Given the description of an element on the screen output the (x, y) to click on. 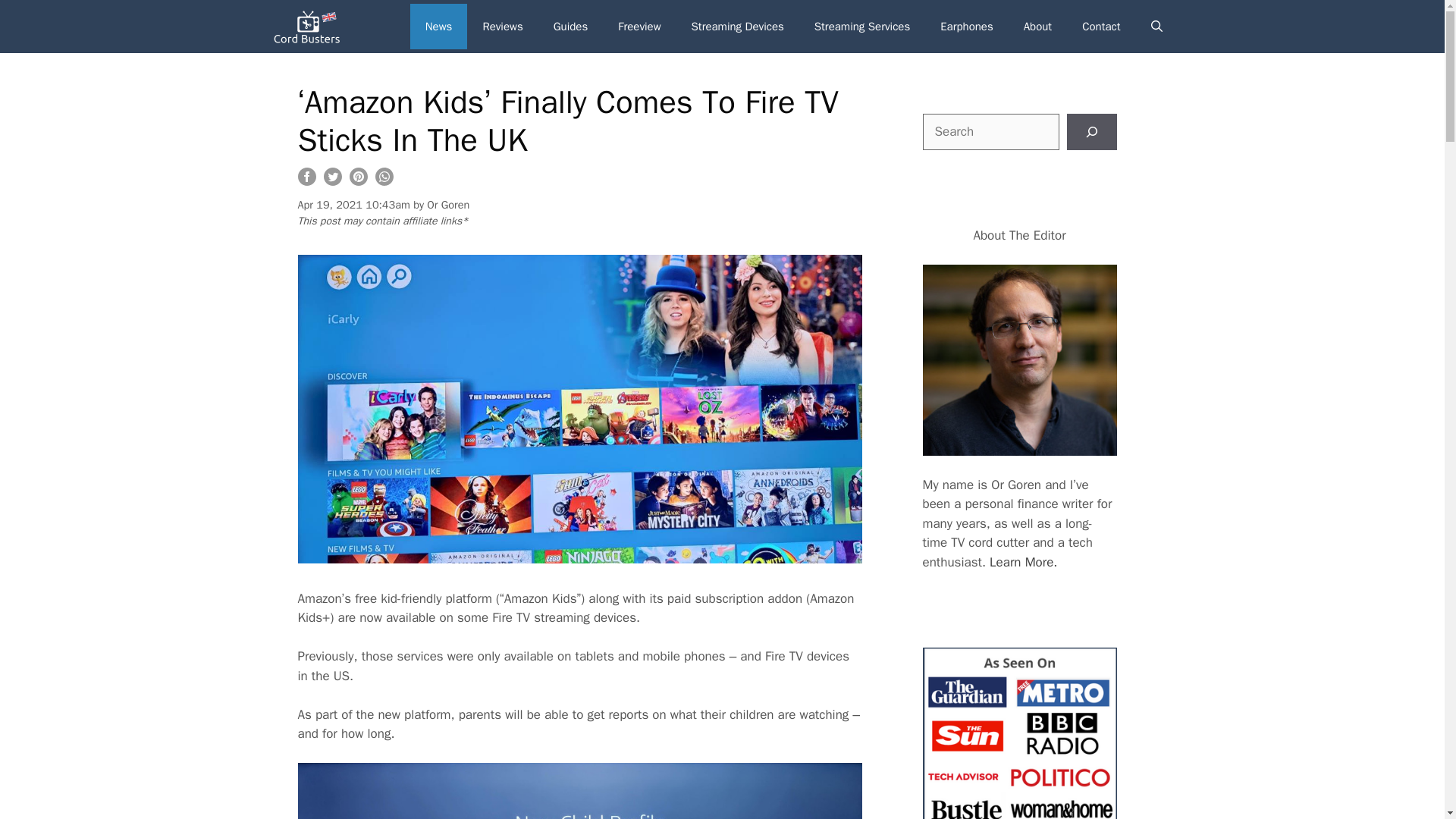
Learn More. (1023, 562)
Share this post! (306, 181)
View all posts by Or Goren (447, 203)
Tweet this post! (331, 181)
Streaming Devices (738, 26)
Or Goren (447, 203)
Earphones (966, 26)
News (438, 26)
Reviews (502, 26)
Contact (1101, 26)
Pin this post! (357, 181)
Freeview (638, 26)
Streaming Services (861, 26)
Guides (571, 26)
Cord Busters (308, 26)
